Given the description of an element on the screen output the (x, y) to click on. 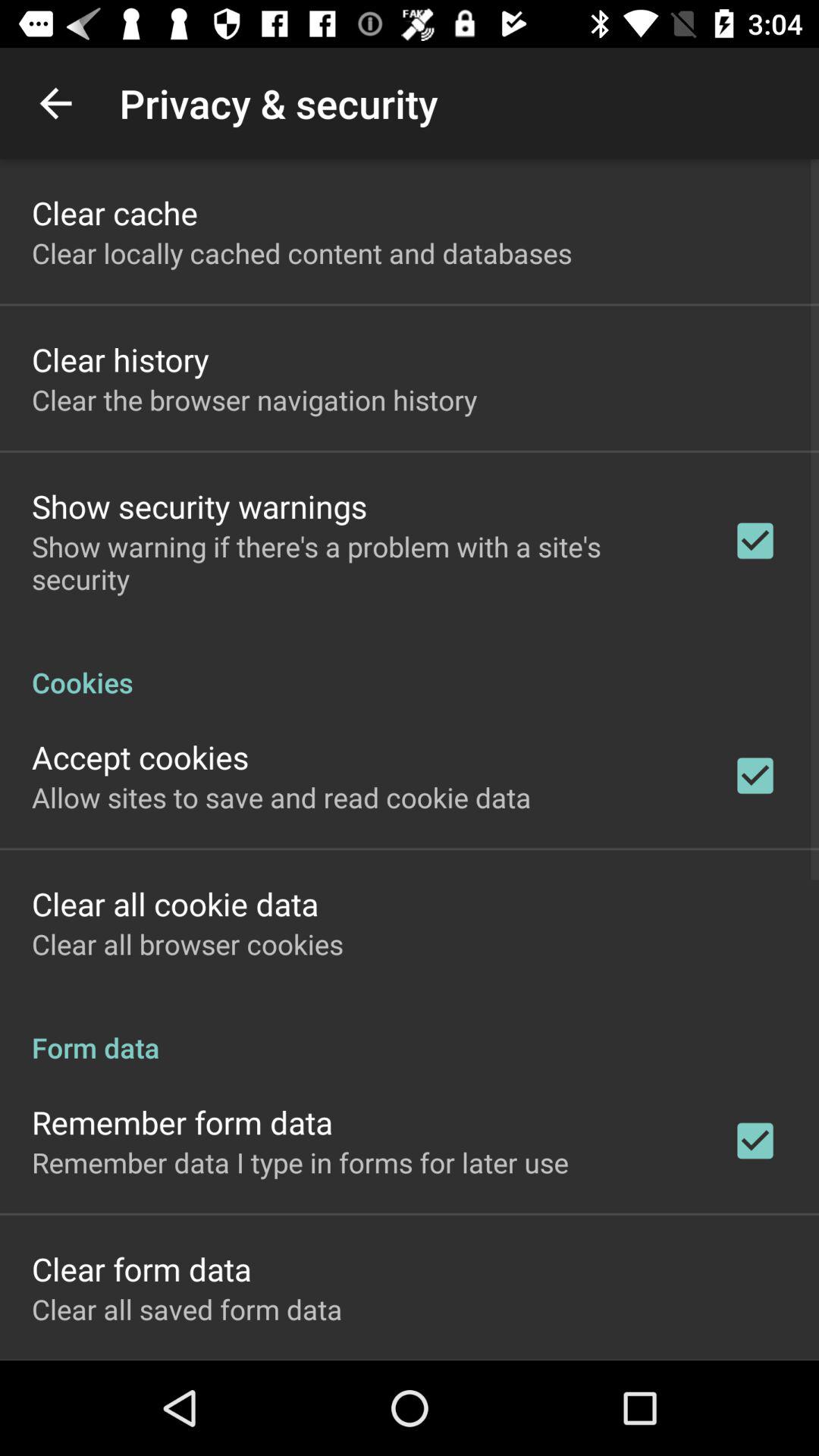
launch the show warning if item (361, 562)
